Given the description of an element on the screen output the (x, y) to click on. 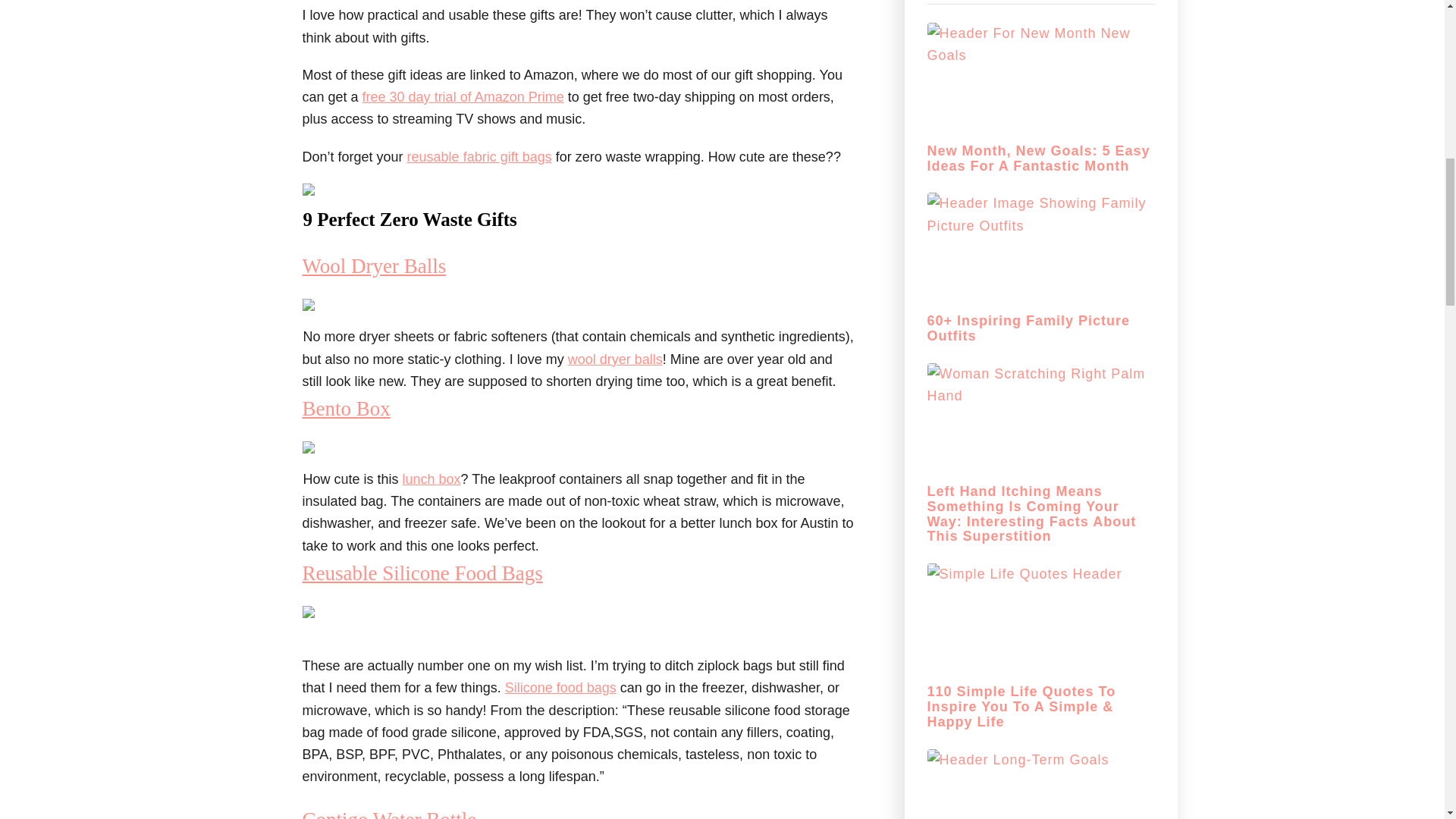
reusable fabric gift bags (479, 155)
Contigo Water Bottle (388, 813)
Bento Box (345, 408)
Reusable Silicone Food Bags (421, 572)
wool dryer balls (614, 359)
Wool Dryer Balls (373, 265)
free 30 day trial of Amazon Prime (463, 96)
lunch box (432, 478)
Silicone food bags (560, 687)
